Given the description of an element on the screen output the (x, y) to click on. 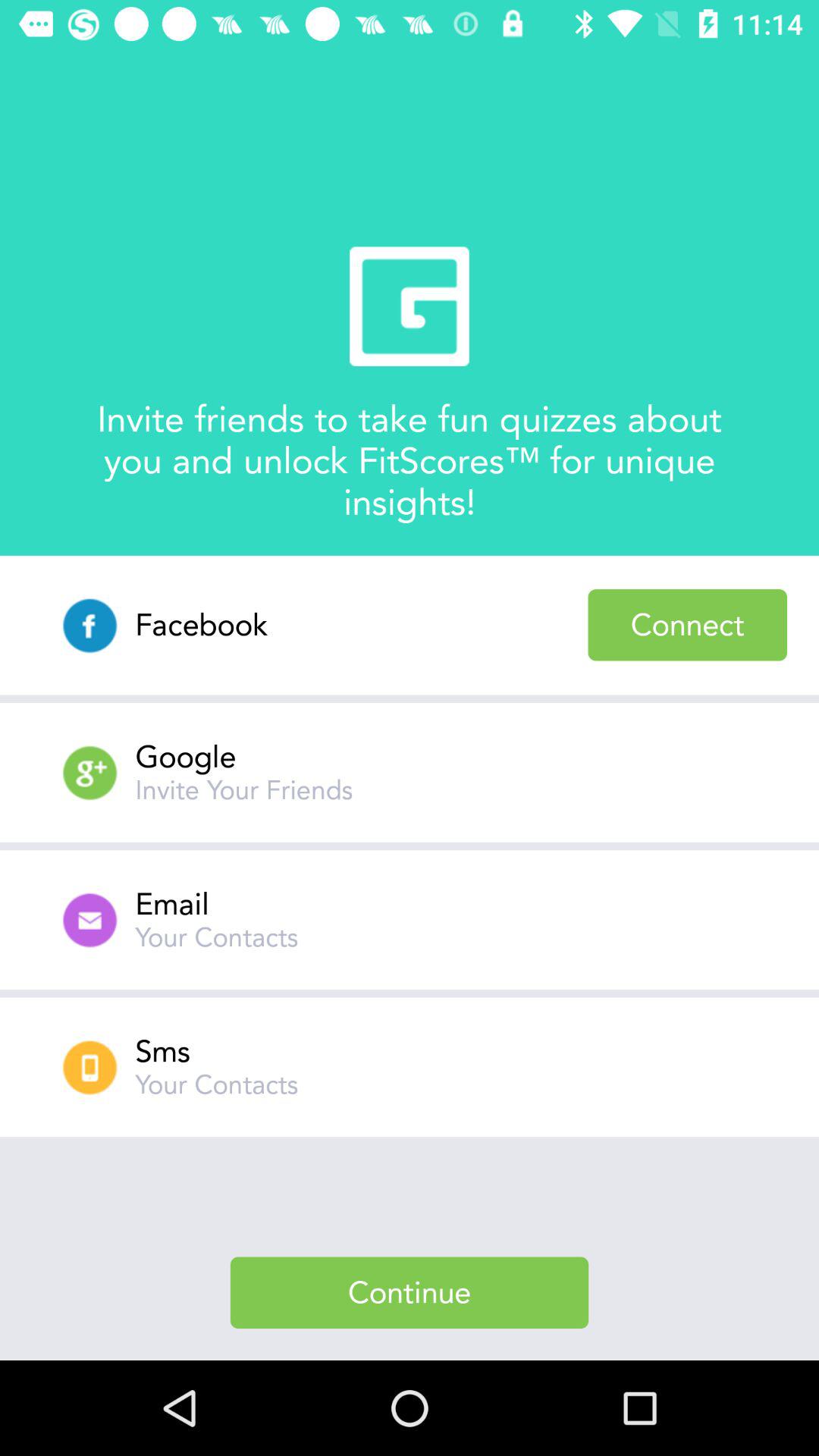
choose item to the right of facebook (687, 624)
